Given the description of an element on the screen output the (x, y) to click on. 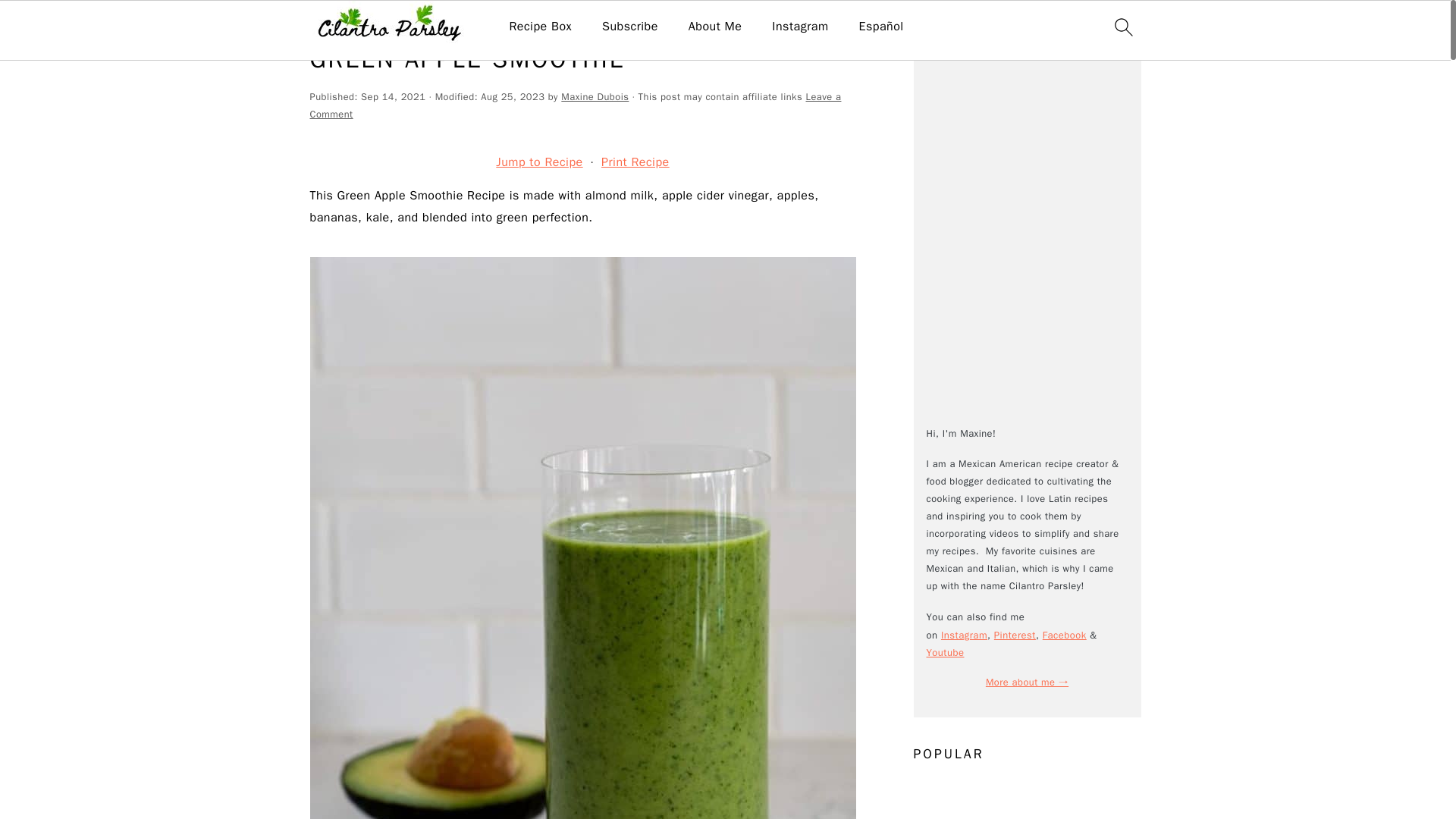
About Me (714, 26)
Instagram (799, 26)
Jump to Recipe (539, 162)
search icon (1122, 26)
Subscribe (630, 26)
Recipe Box (540, 26)
